Given the description of an element on the screen output the (x, y) to click on. 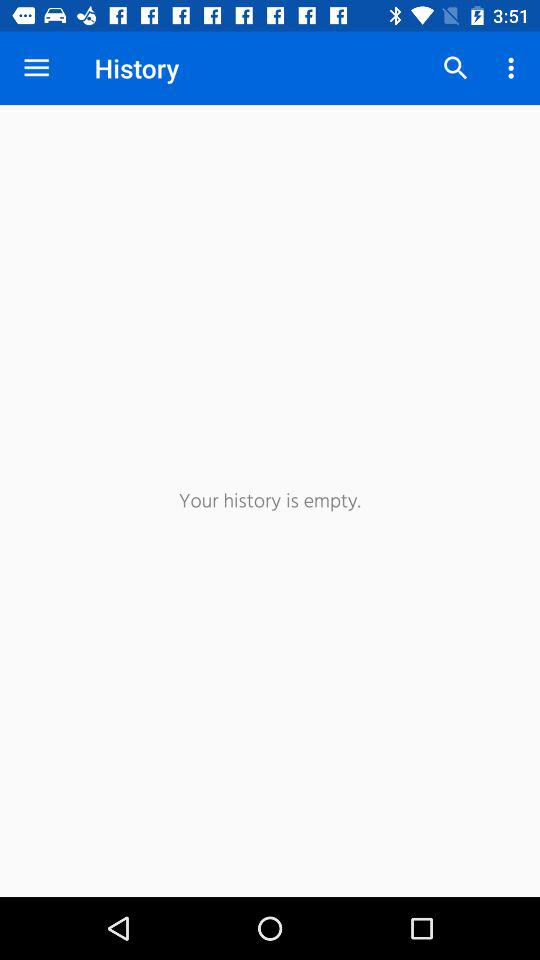
turn off icon next to the history icon (455, 67)
